Given the description of an element on the screen output the (x, y) to click on. 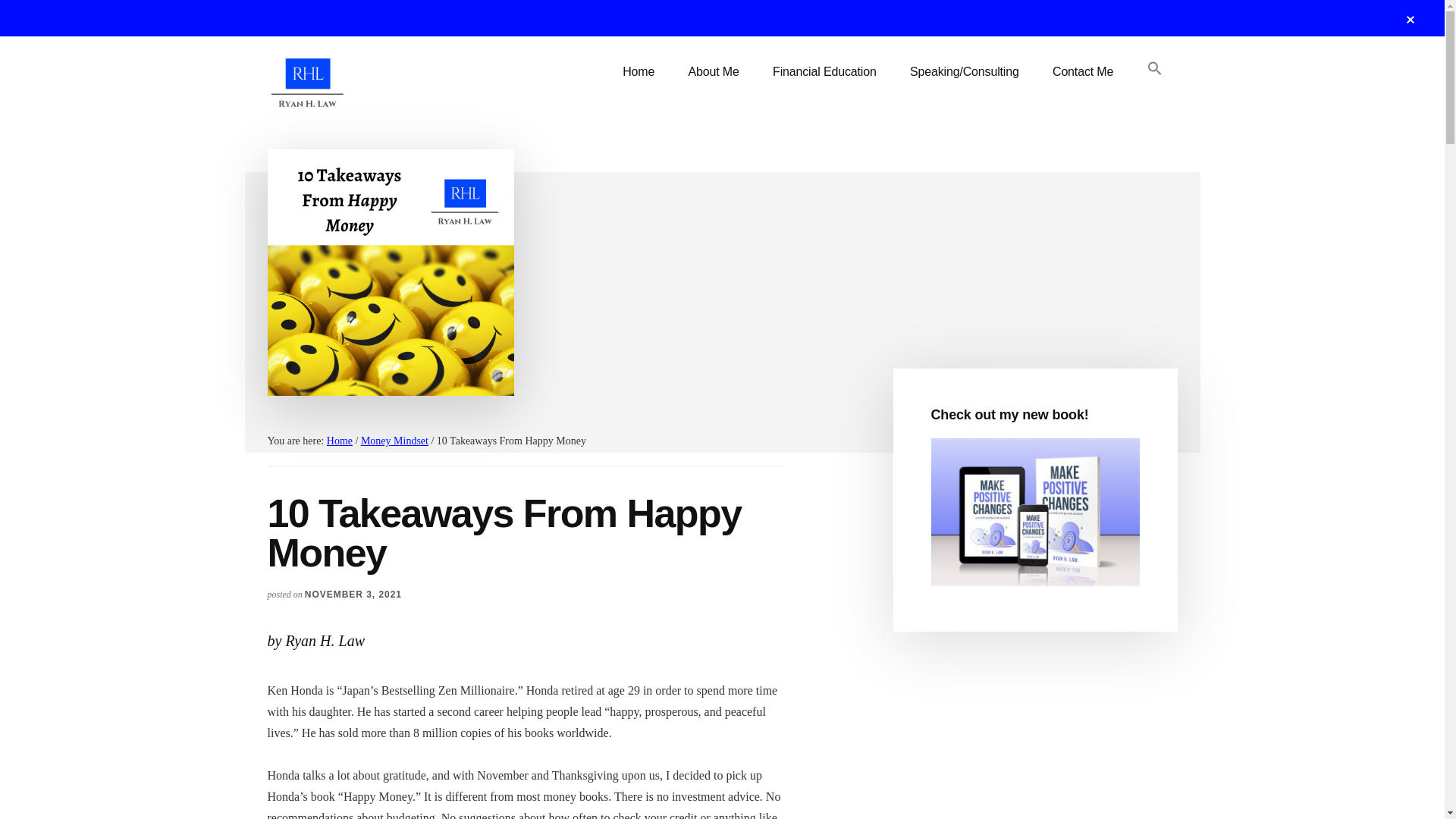
Financial Education (824, 71)
Home (339, 440)
Home (638, 71)
Money Mindset (394, 440)
About Me (713, 71)
Contact Me (1082, 71)
